Given the description of an element on the screen output the (x, y) to click on. 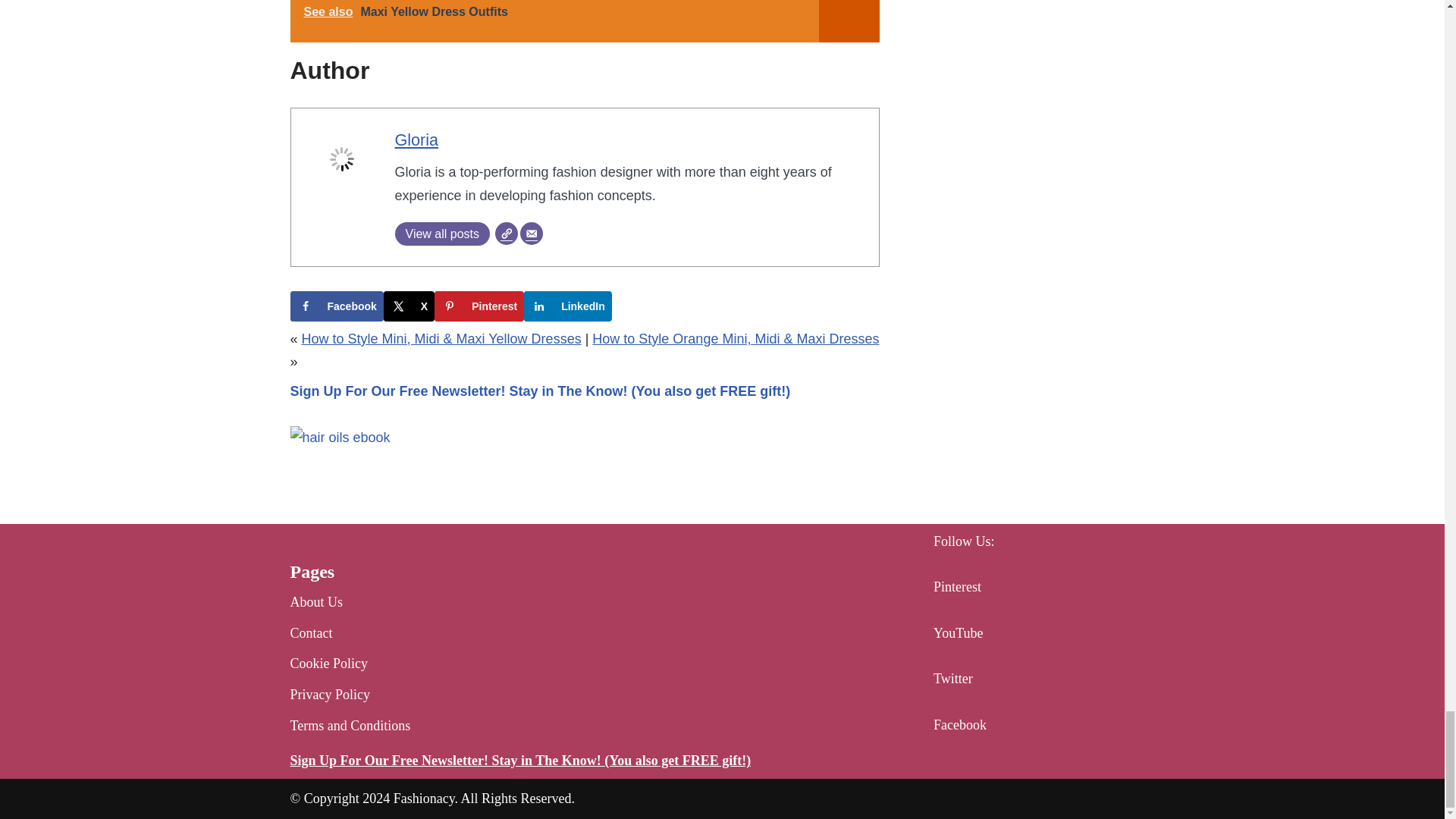
View all posts (441, 233)
Share on X (408, 306)
Share on LinkedIn (567, 306)
Gloria (416, 139)
Share on Facebook (335, 306)
Save to Pinterest (478, 306)
